Given the description of an element on the screen output the (x, y) to click on. 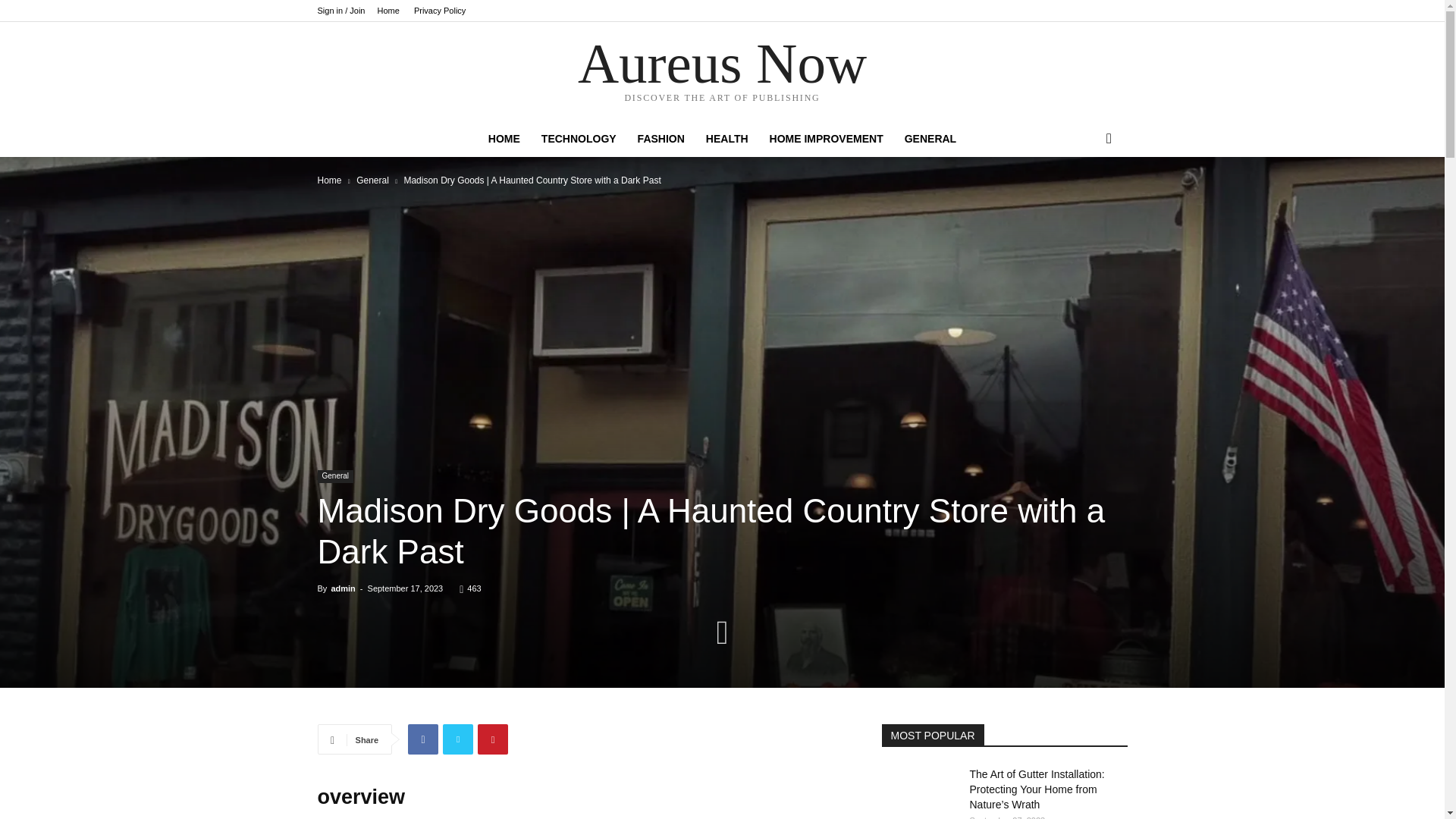
HEALTH (726, 138)
admin (342, 587)
FASHION (661, 138)
Aureus Now DISCOVER THE ART OF PUBLISHING (722, 72)
Search (1085, 199)
Privacy Policy (439, 10)
General (372, 180)
Home (387, 10)
HOME (504, 138)
GENERAL (929, 138)
Home (328, 180)
General (335, 476)
TECHNOLOGY (579, 138)
HOME IMPROVEMENT (825, 138)
View all posts in General (372, 180)
